Given the description of an element on the screen output the (x, y) to click on. 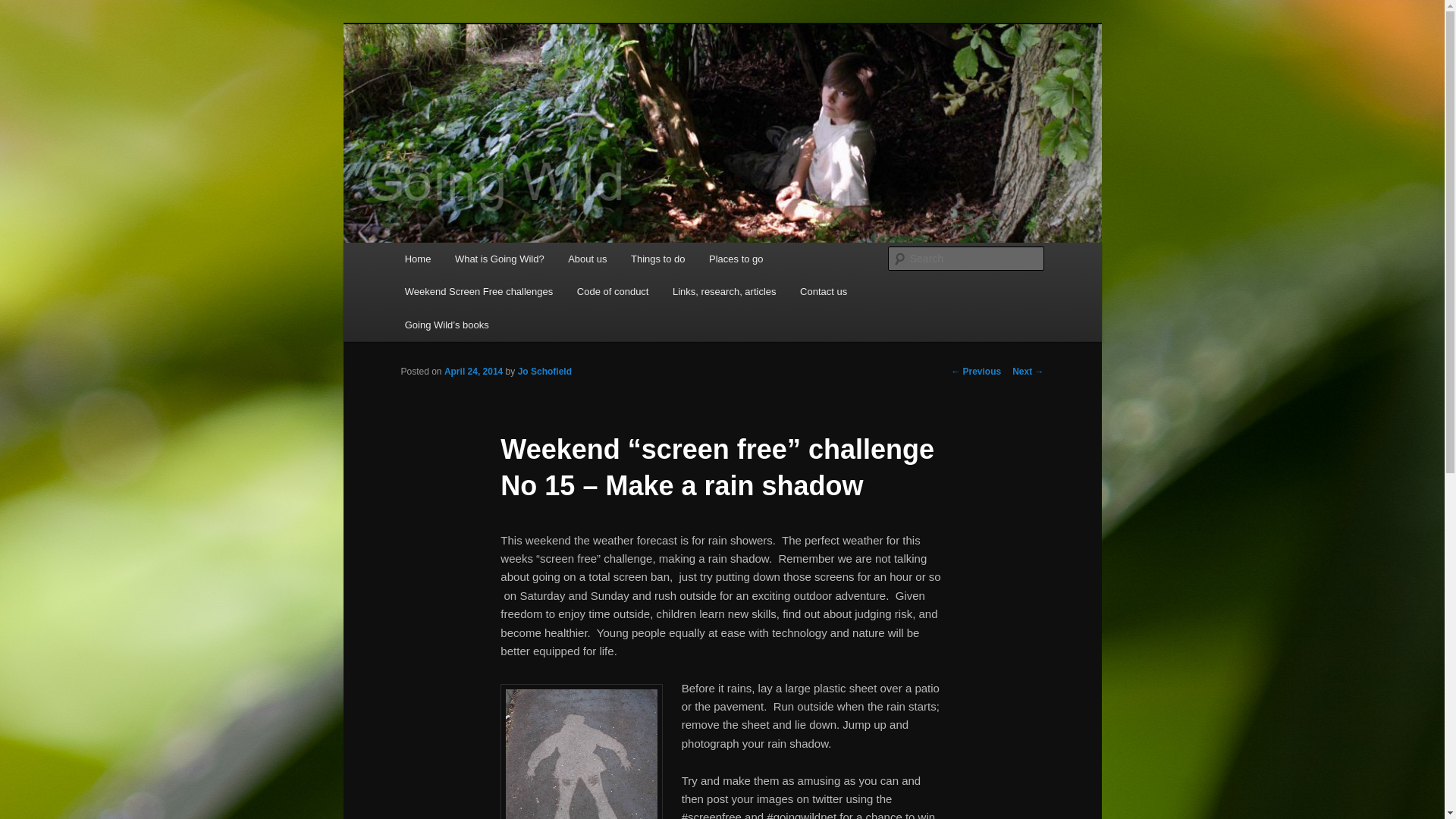
Contact us (823, 291)
Links, research, articles (724, 291)
Things to do (657, 258)
Jo Schofield (545, 371)
Going Wild! (463, 78)
Weekend Screen Free challenges (478, 291)
April 24, 2014 (473, 371)
Search (24, 8)
About us (587, 258)
Home (417, 258)
What is Going Wild? (499, 258)
Code of conduct (612, 291)
Places to go (735, 258)
